Given the description of an element on the screen output the (x, y) to click on. 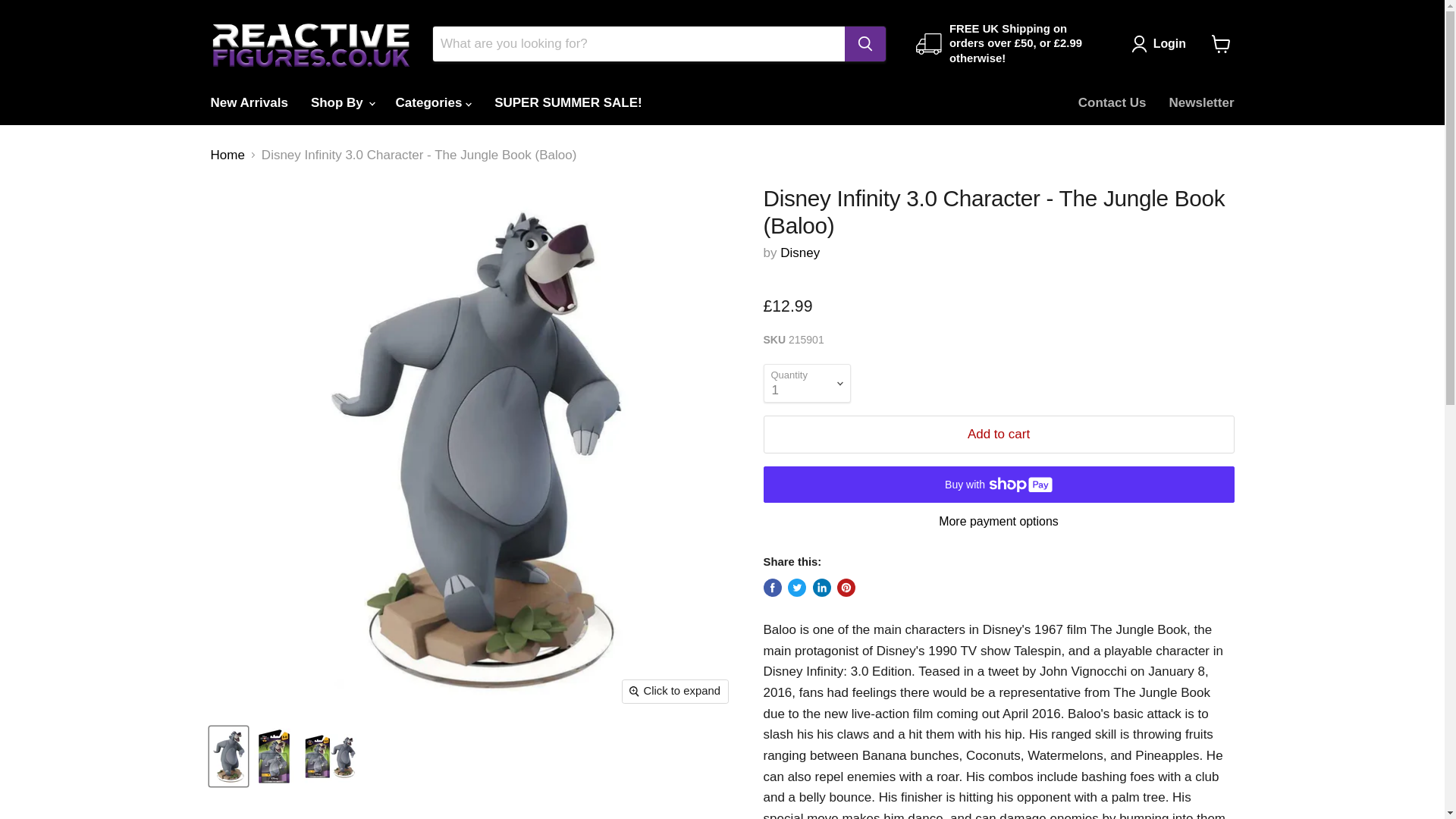
New Arrivals (248, 102)
Shop By (341, 102)
Disney (799, 252)
Categories (433, 102)
View cart (1221, 43)
Login (1169, 44)
